Given the description of an element on the screen output the (x, y) to click on. 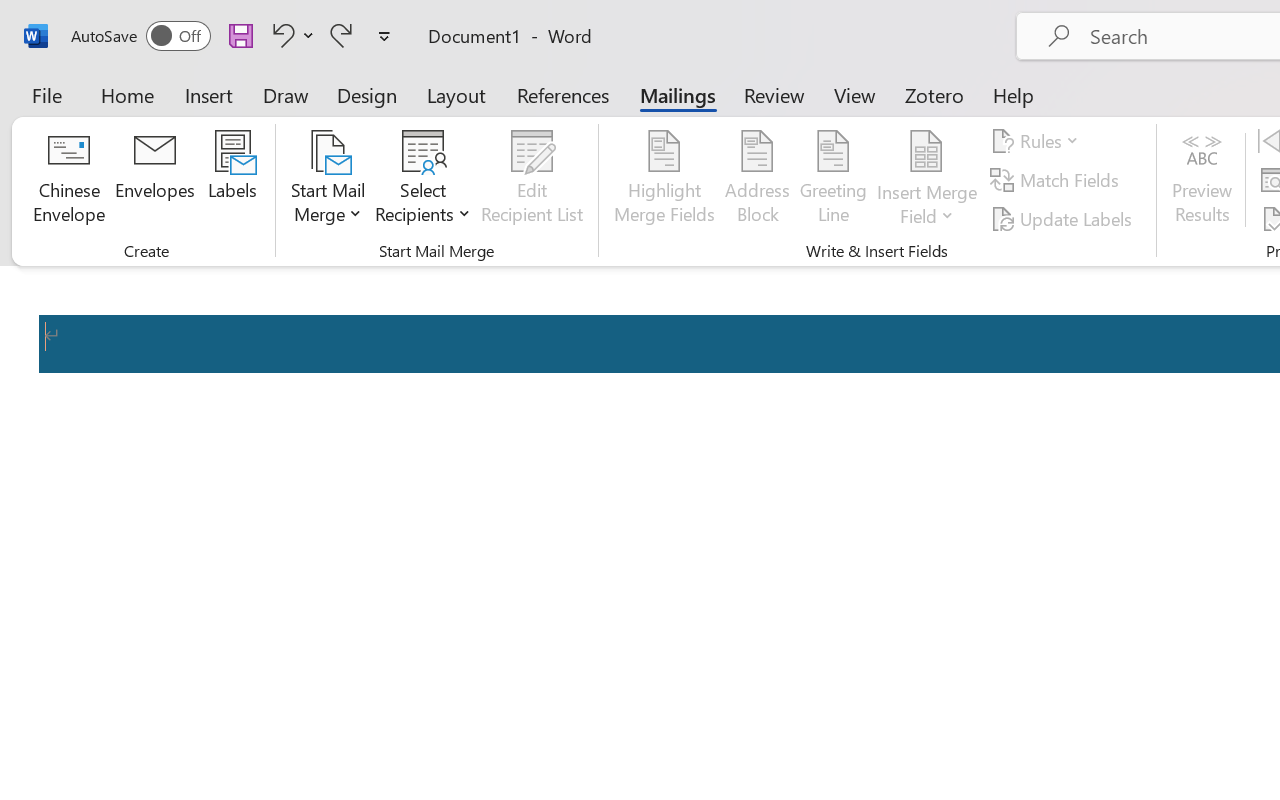
Edit Recipient List... (532, 179)
Chinese Envelope... (68, 179)
Highlight Merge Fields (664, 179)
Greeting Line... (833, 179)
Undo Apply Quick Style Set (290, 35)
Select Recipients (423, 179)
Redo Apply Quick Style (341, 35)
